Given the description of an element on the screen output the (x, y) to click on. 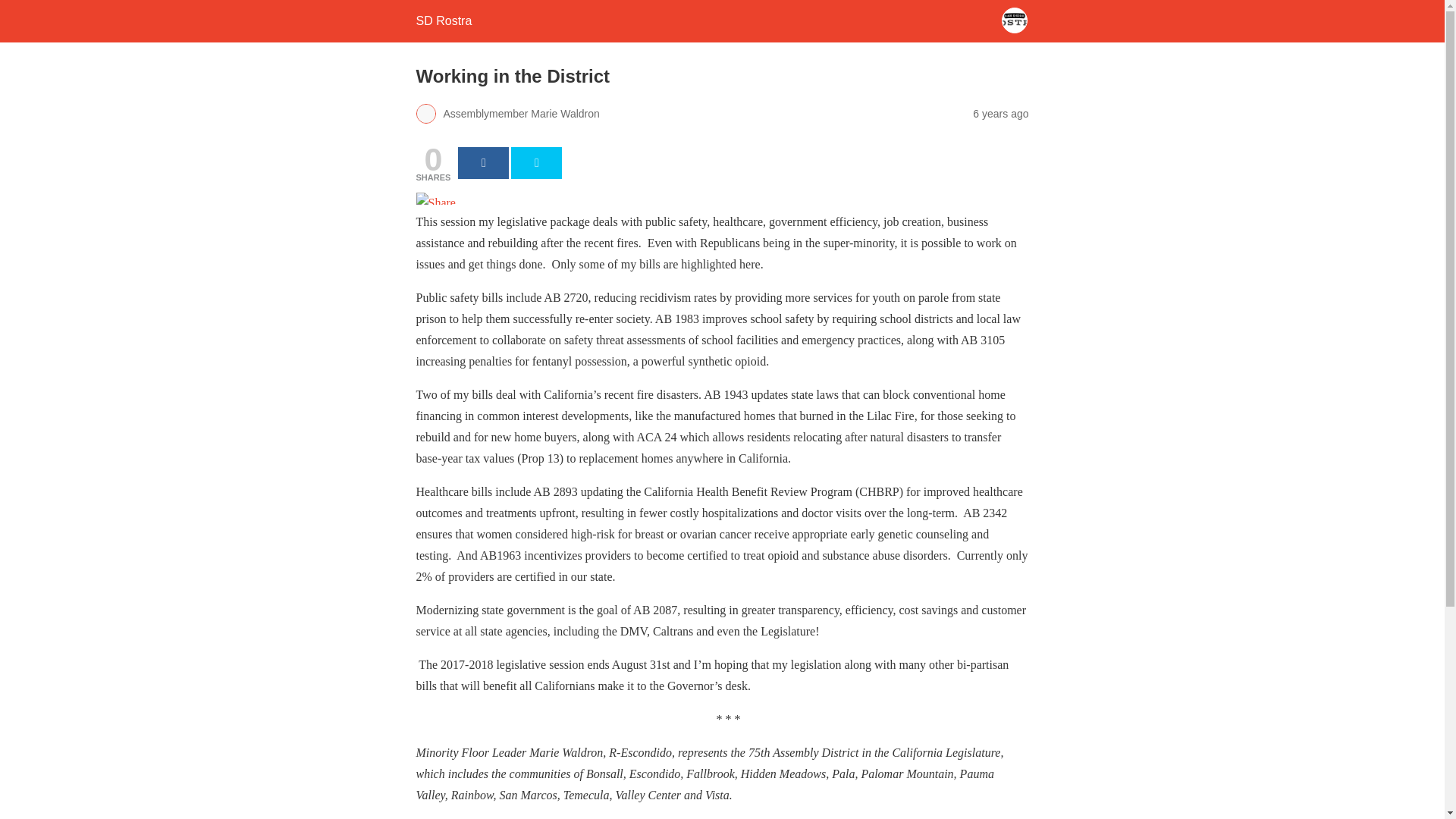
SD Rostra (442, 20)
Tweet (536, 163)
Share (483, 163)
